Given the description of an element on the screen output the (x, y) to click on. 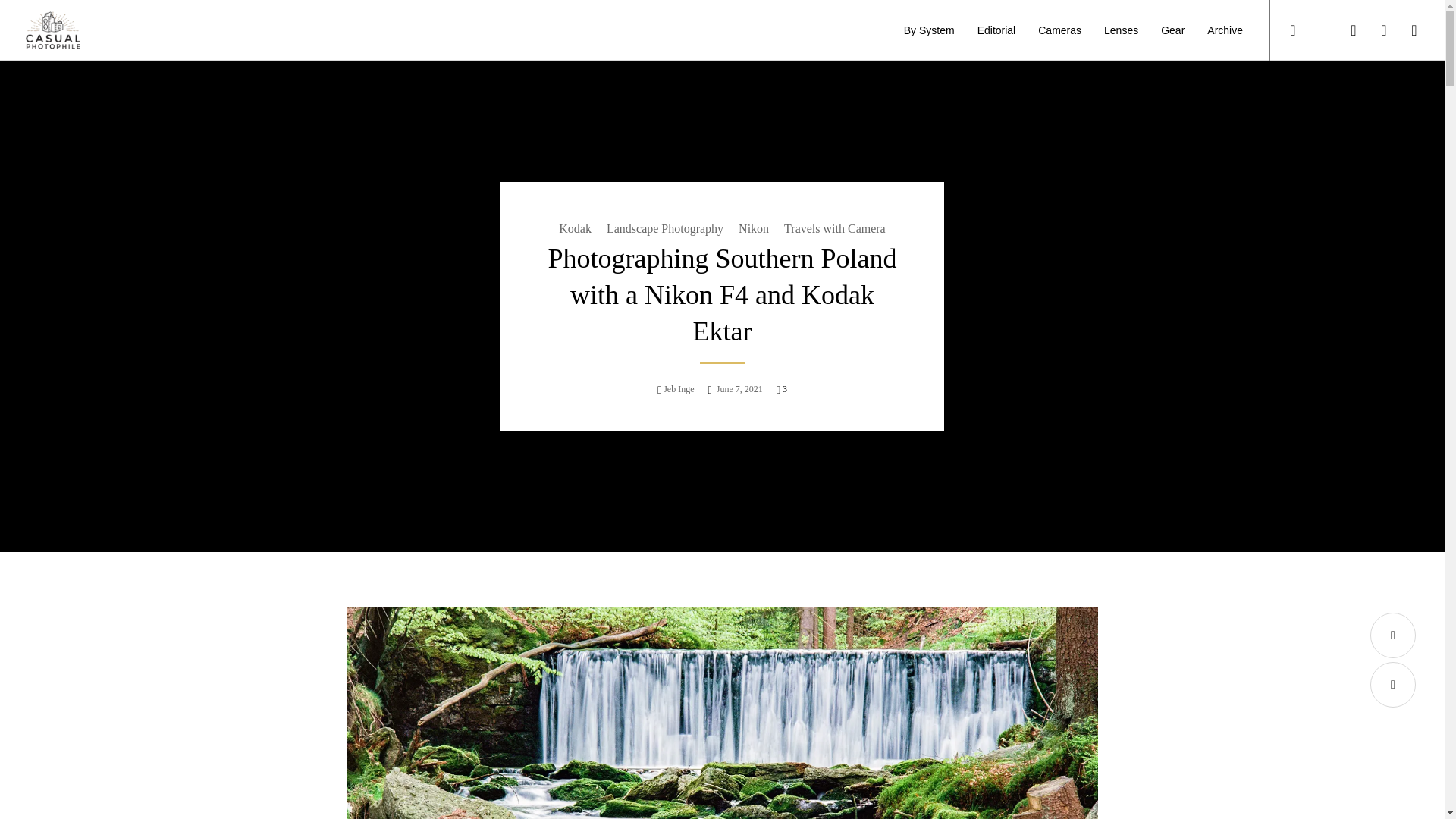
By System (929, 30)
Editorial (996, 30)
Cameras (1059, 30)
